Given the description of an element on the screen output the (x, y) to click on. 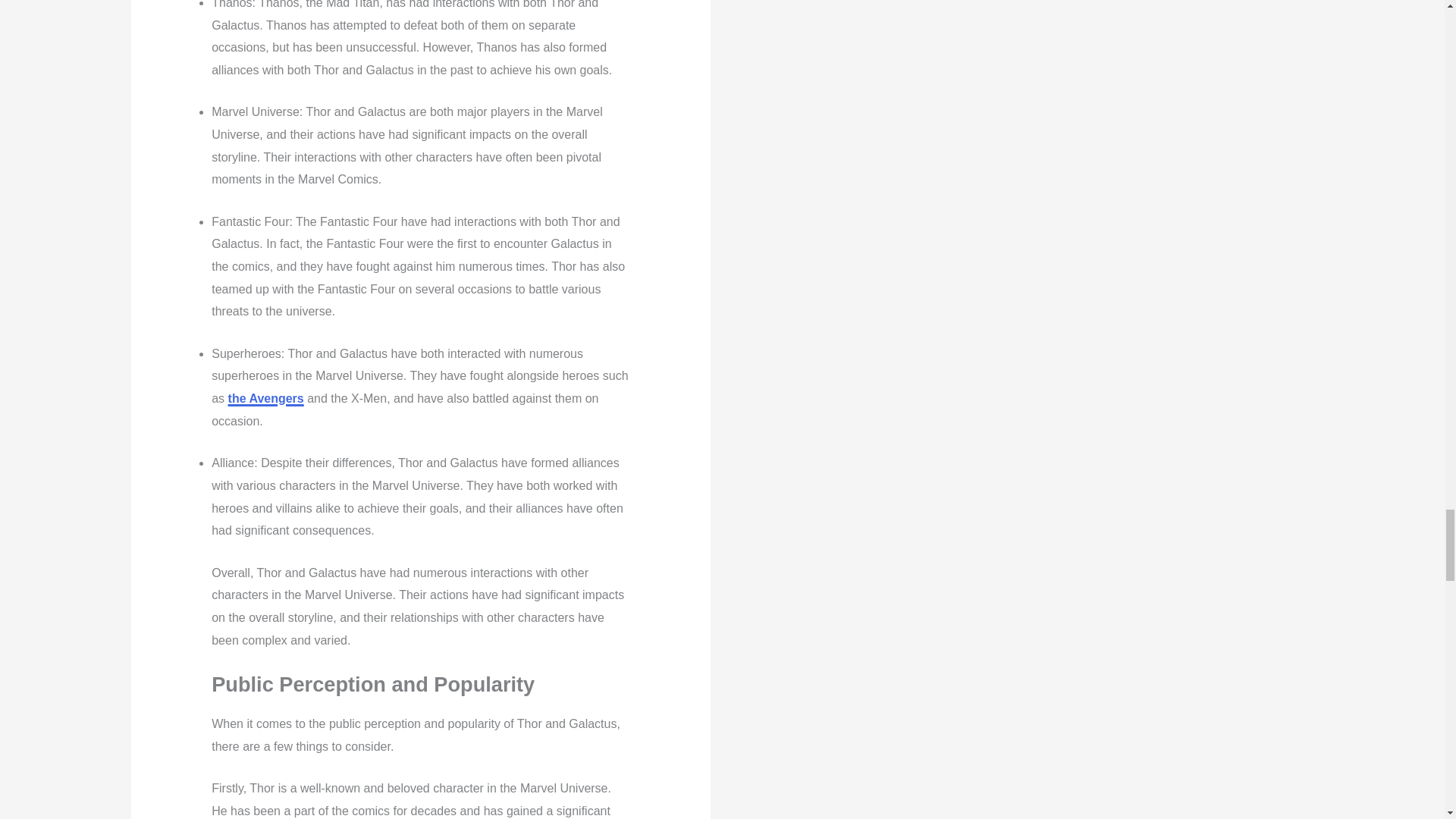
the Avengers (266, 398)
the Avengers (266, 398)
